Given the description of an element on the screen output the (x, y) to click on. 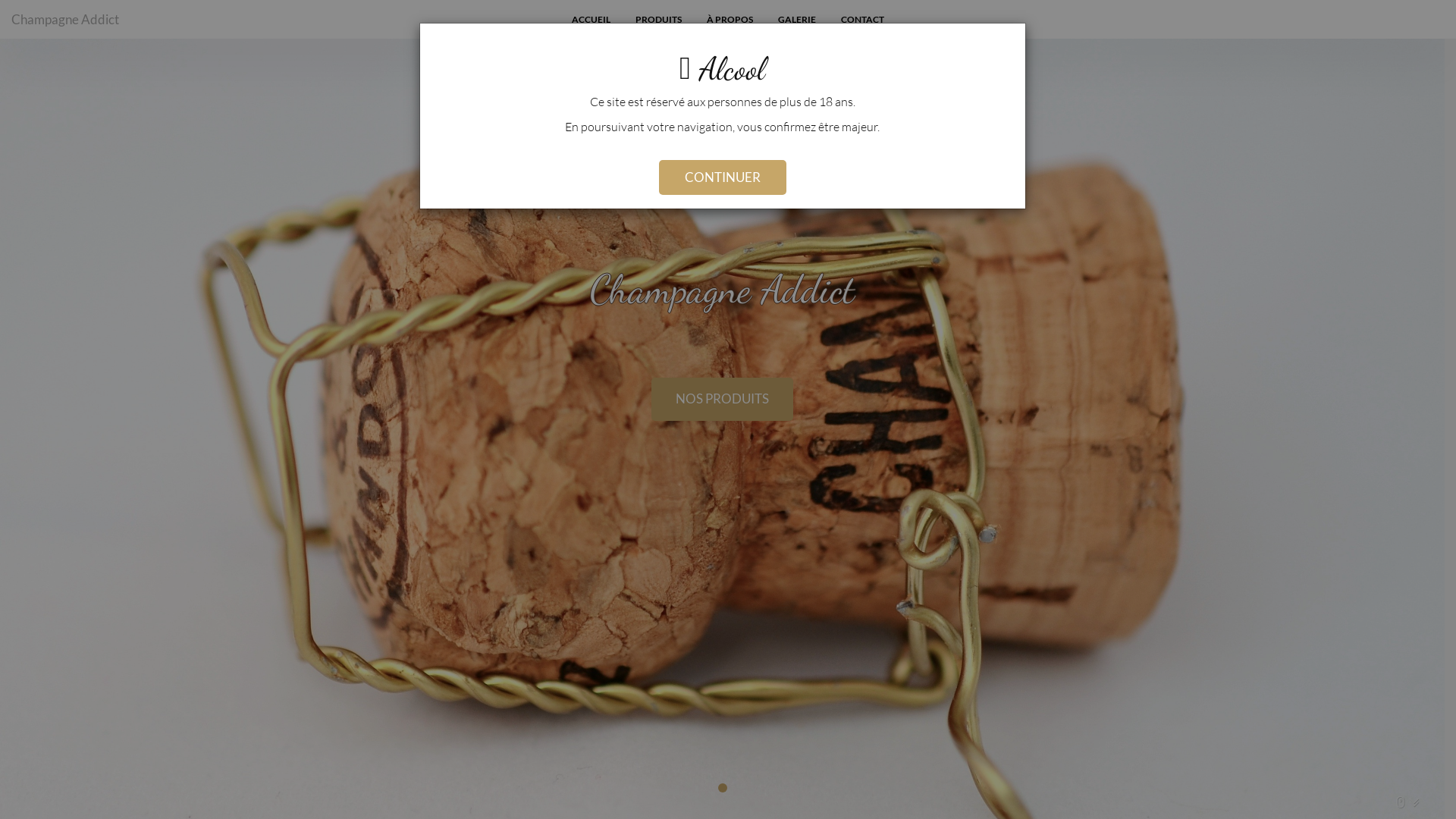
CONTACT Element type: text (862, 19)
GALERIE Element type: text (796, 19)
PRODUITS Element type: text (658, 19)
NOS PRODUITS Element type: text (722, 398)
CONTINUER Element type: text (721, 177)
Champagne Addict Element type: text (65, 18)
ACCUEIL Element type: text (590, 19)
